Given the description of an element on the screen output the (x, y) to click on. 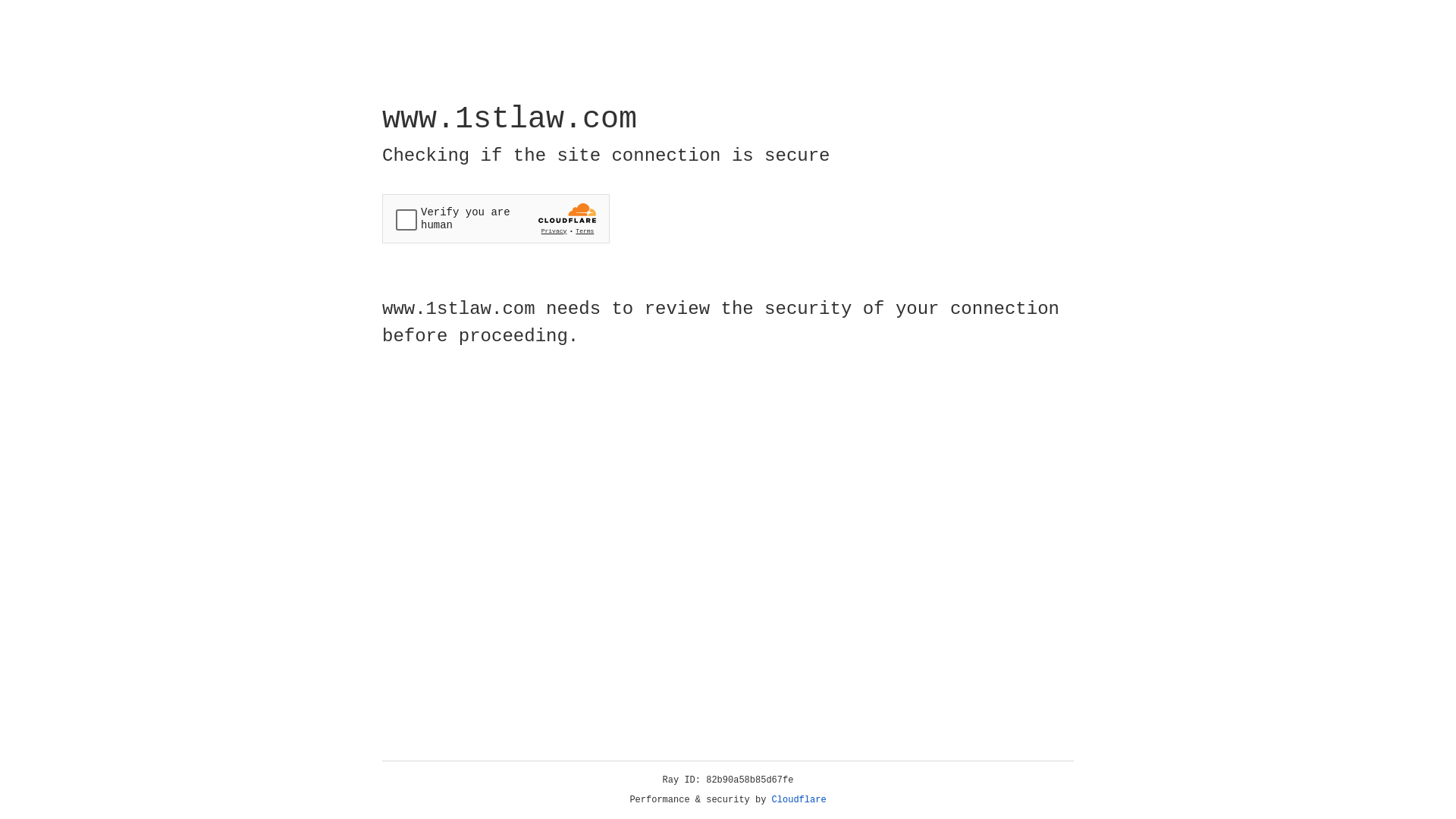
Cloudflare Element type: text (798, 799)
Widget containing a Cloudflare security challenge Element type: hover (495, 218)
